Given the description of an element on the screen output the (x, y) to click on. 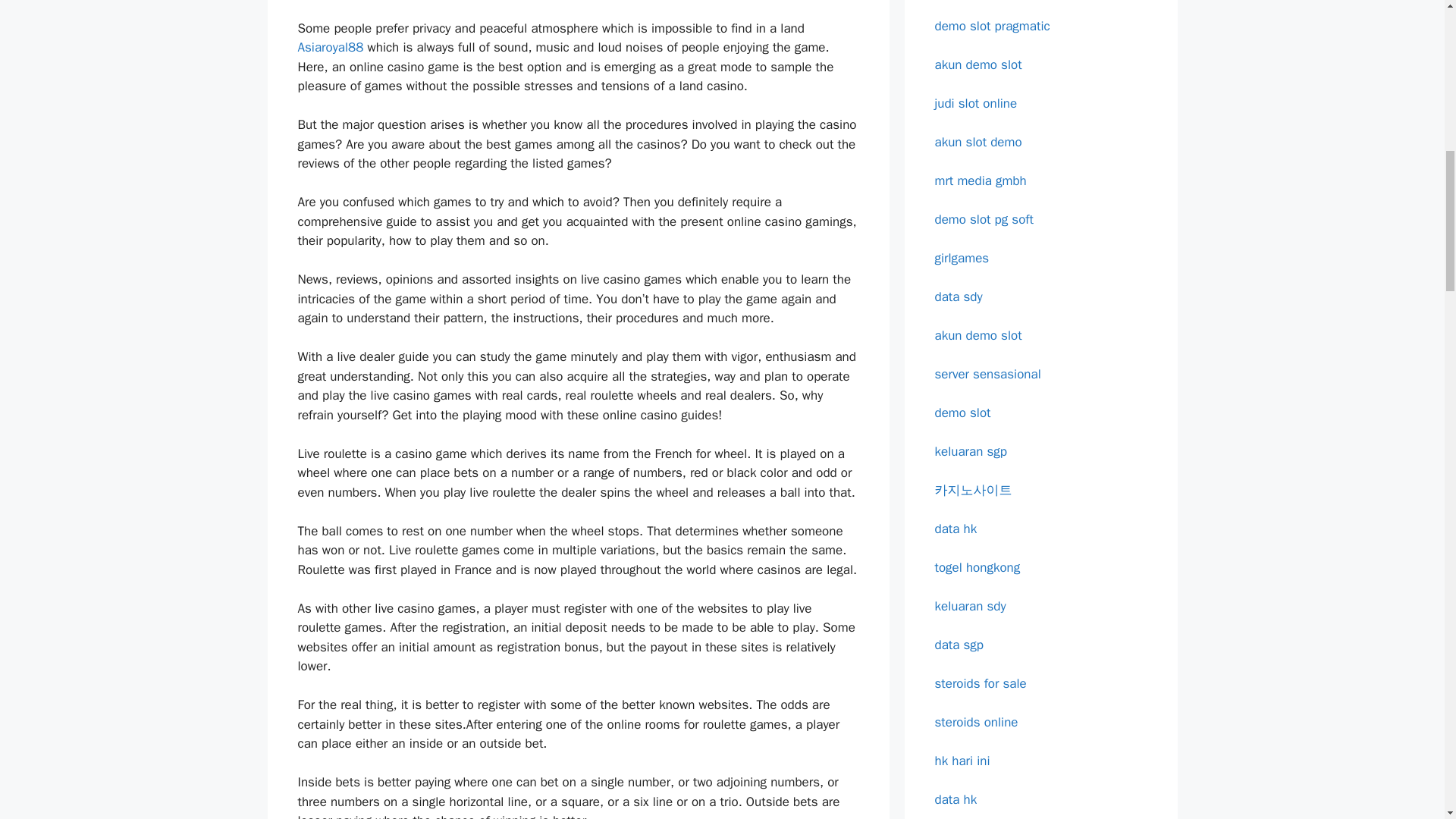
akun demo slot (978, 64)
judi slot online (975, 103)
Asiaroyal88 (329, 47)
mrt media gmbh (980, 180)
akun slot demo (978, 141)
demo slot pragmatic (991, 26)
